Given the description of an element on the screen output the (x, y) to click on. 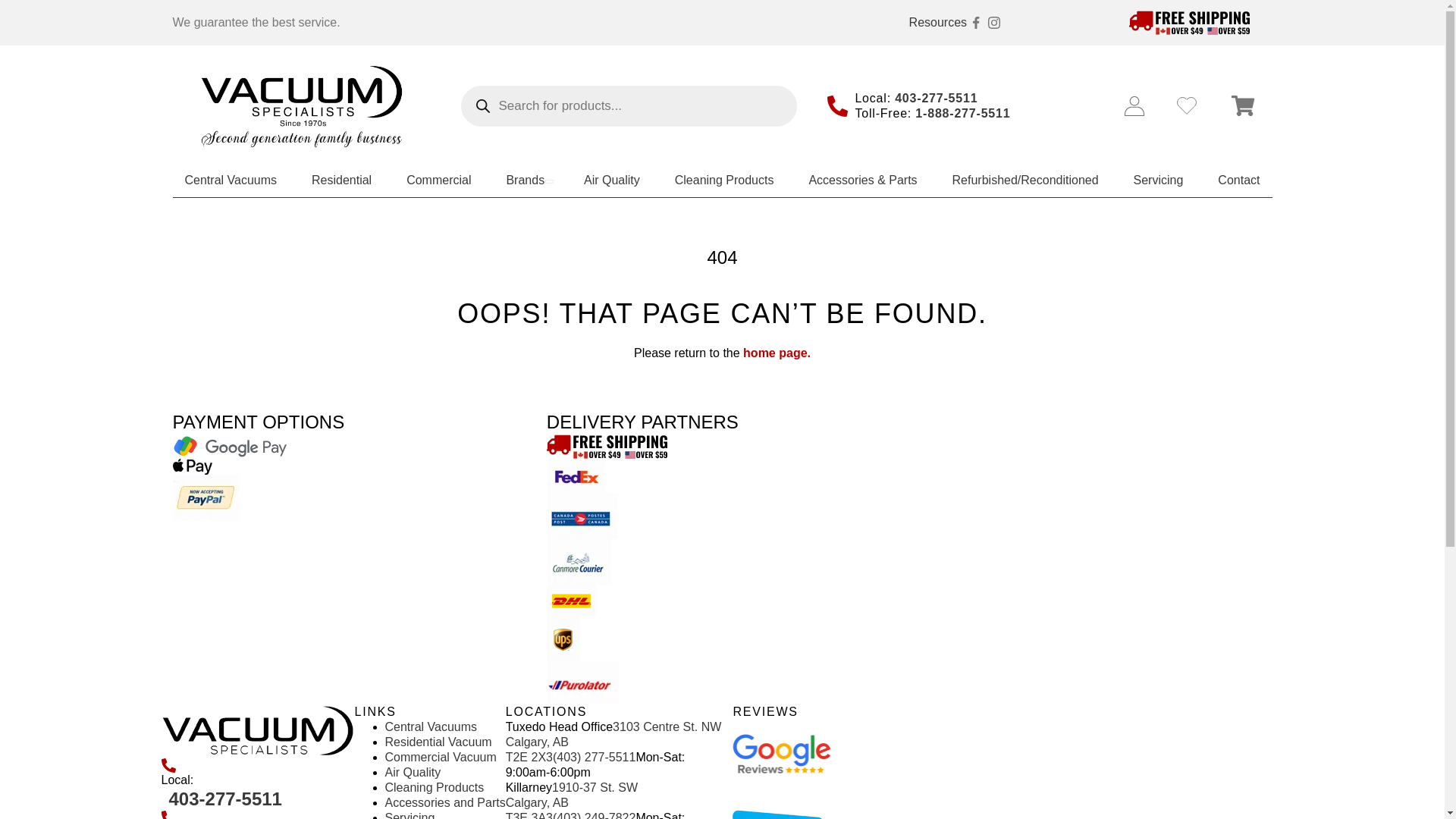
1-888-277-5511 (962, 113)
Residential (341, 178)
Resources (937, 22)
Central Vacuums (231, 178)
Commercial (438, 178)
403-277-5511 (935, 97)
Brands (526, 178)
